Given the description of an element on the screen output the (x, y) to click on. 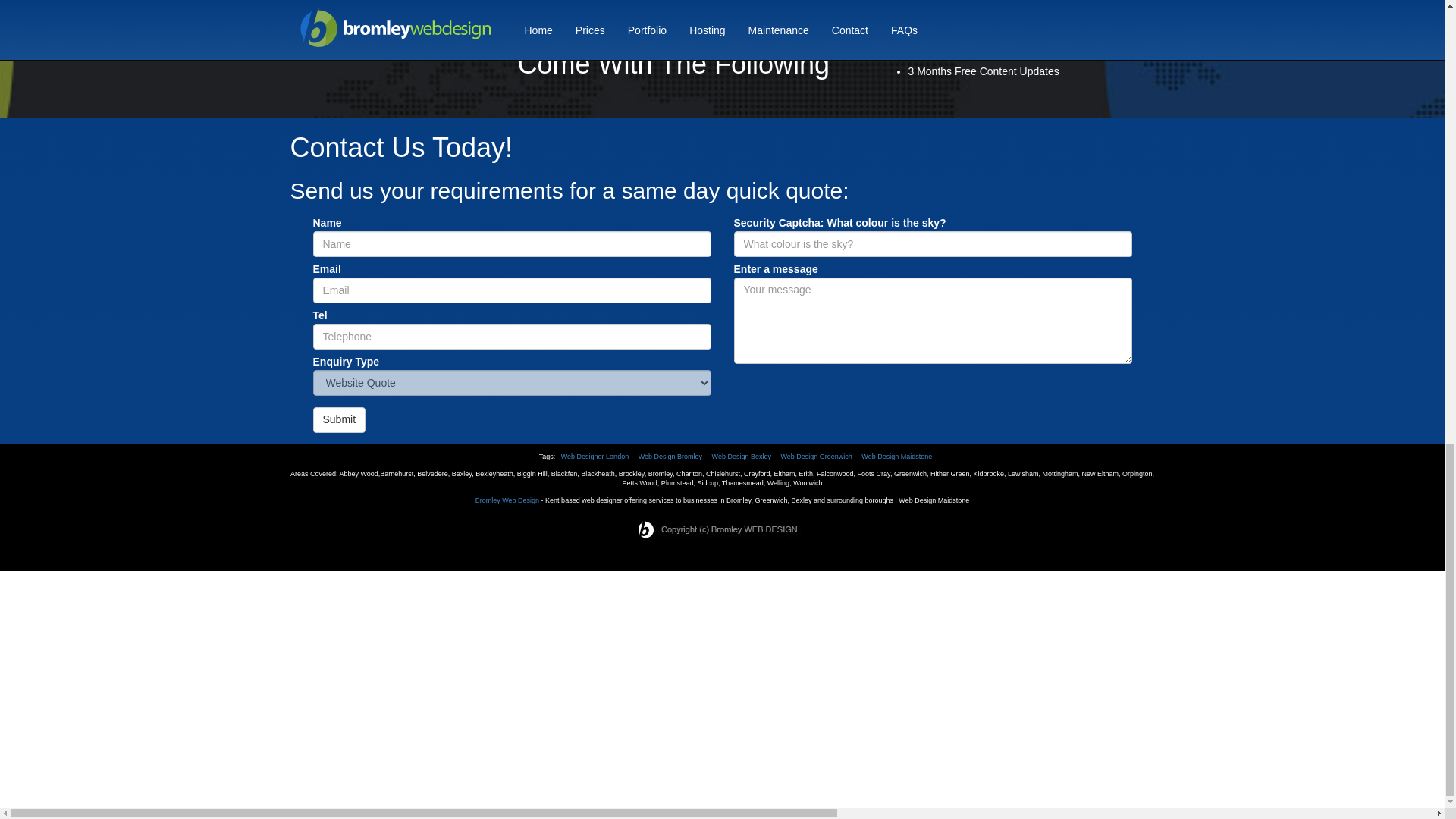
Submit (339, 420)
Web Design Maidstone (896, 456)
Bromley Web Design (507, 500)
Web Design Bromley (670, 456)
Web Design Bexley (741, 456)
Web Design Greenwich (815, 456)
Web Designer London (594, 456)
